Given the description of an element on the screen output the (x, y) to click on. 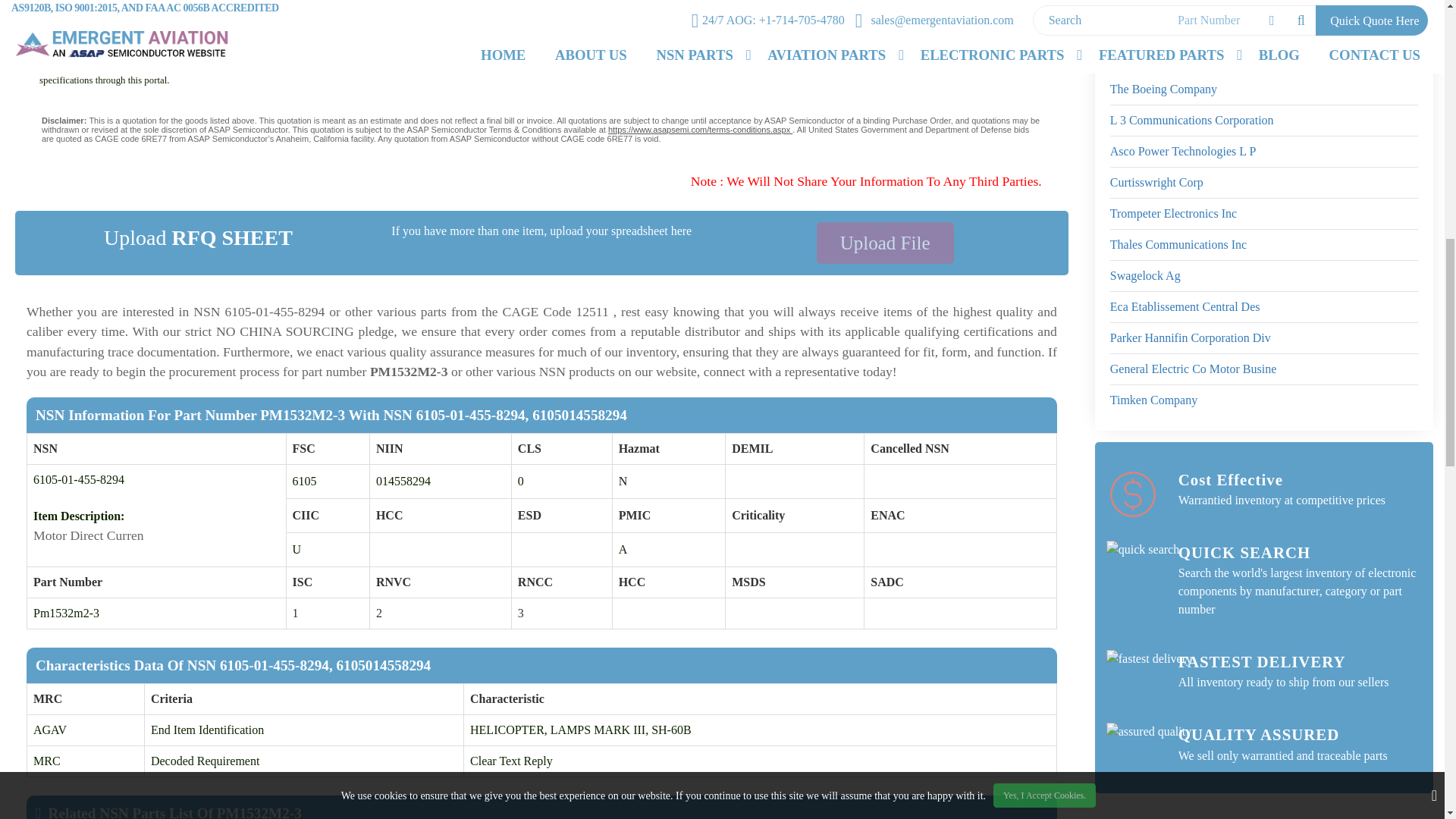
RFQ disclaimer (541, 129)
on (31, 2)
